Given the description of an element on the screen output the (x, y) to click on. 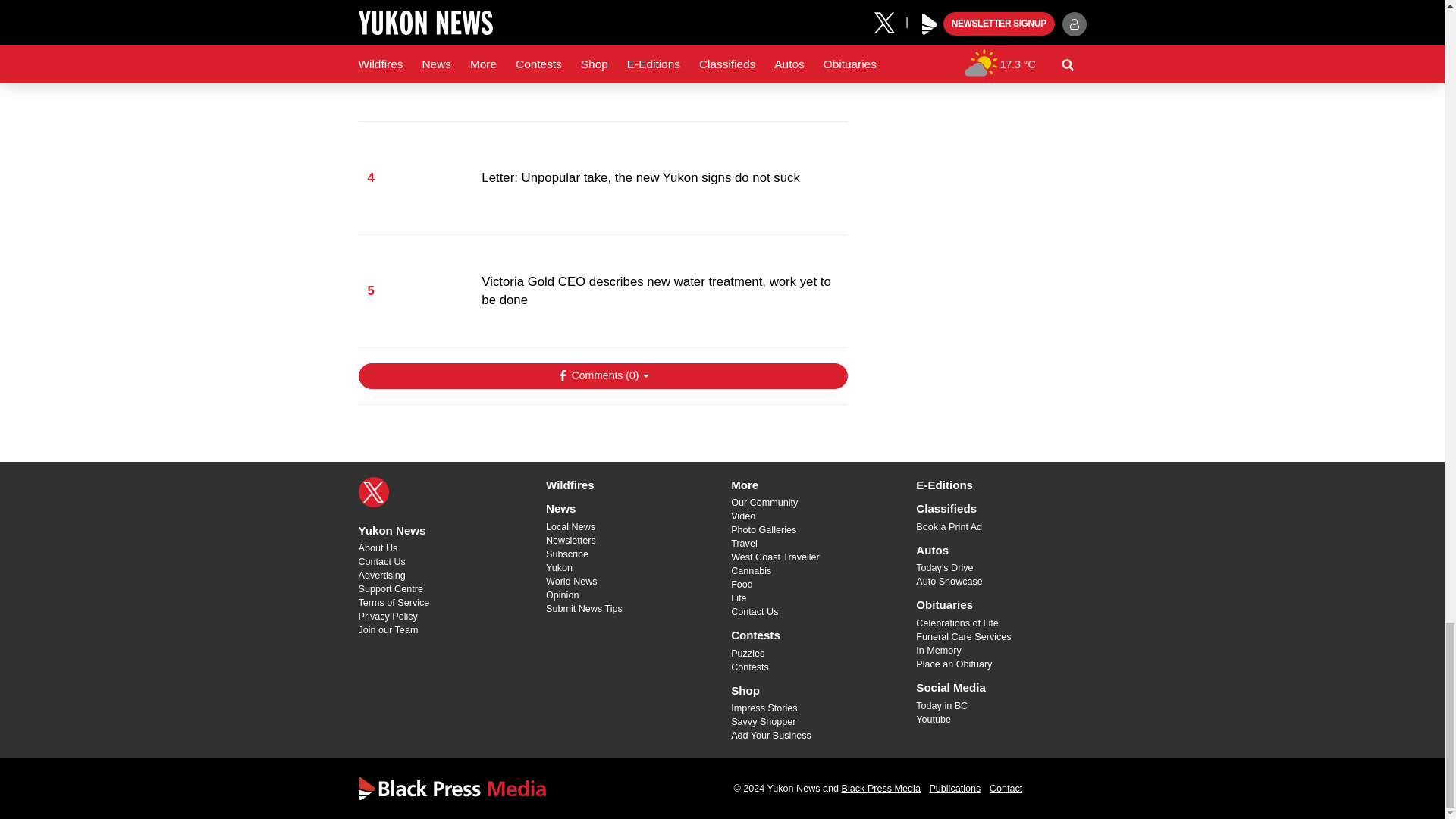
Show Comments (602, 376)
X (373, 491)
